Given the description of an element on the screen output the (x, y) to click on. 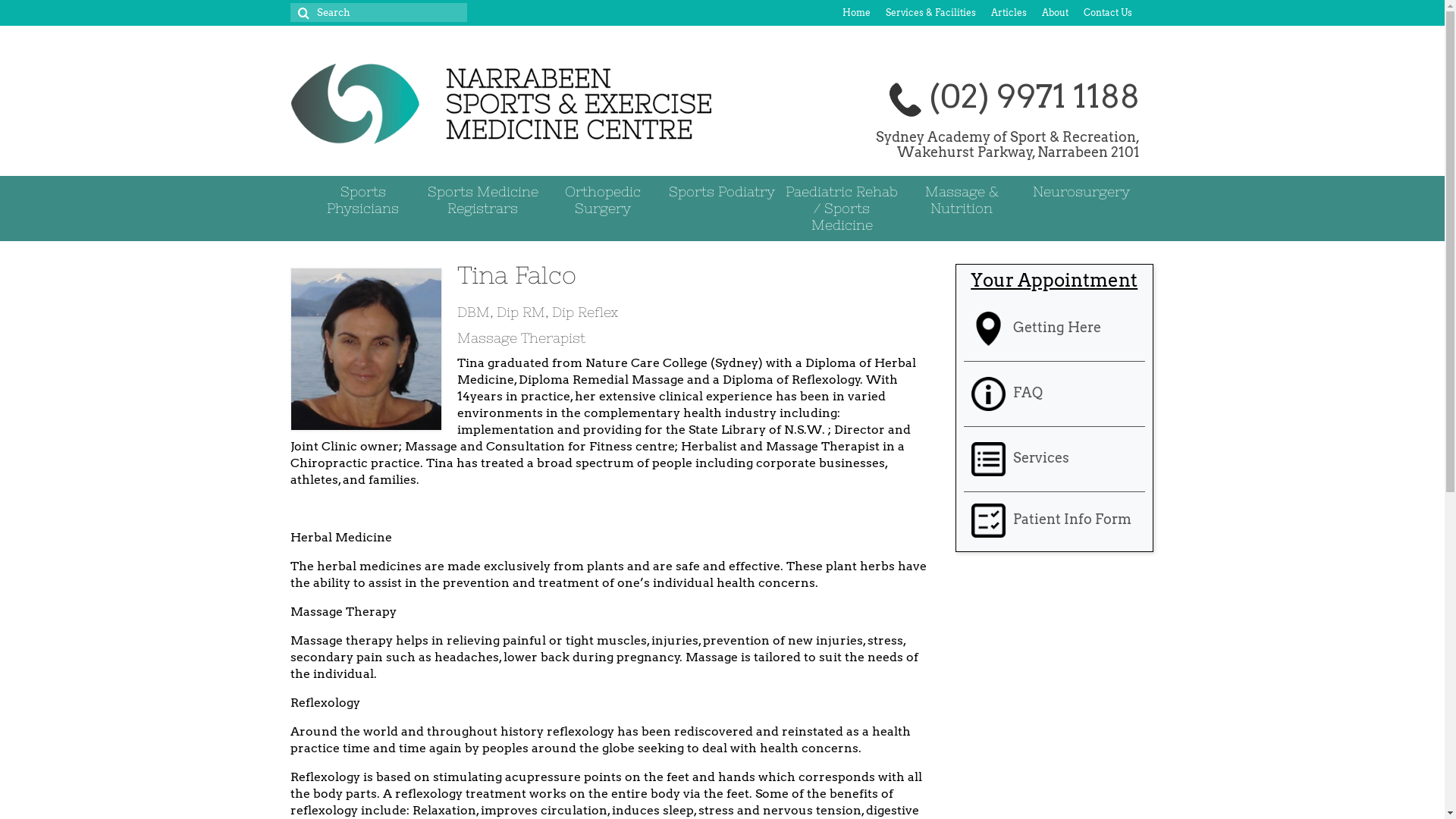
Paediatric Rehab / Sports Medicine Element type: text (841, 208)
Orthopedic Surgery Element type: text (602, 199)
Patient Info Form Element type: text (1054, 518)
Services Element type: text (1054, 458)
Sports Podiatry Element type: text (722, 191)
Neurosurgery Element type: text (1080, 191)
Getting Here Element type: text (1054, 328)
Sports Physicians Element type: text (362, 199)
Contact Us Element type: text (1107, 12)
FAQ Element type: text (1054, 393)
Sports Medicine Registrars Element type: text (482, 199)
Massage & Nutrition Element type: text (961, 199)
Articles Element type: text (1007, 12)
About Element type: text (1055, 12)
Home Element type: text (855, 12)
Services & Facilities Element type: text (930, 12)
